Given the description of an element on the screen output the (x, y) to click on. 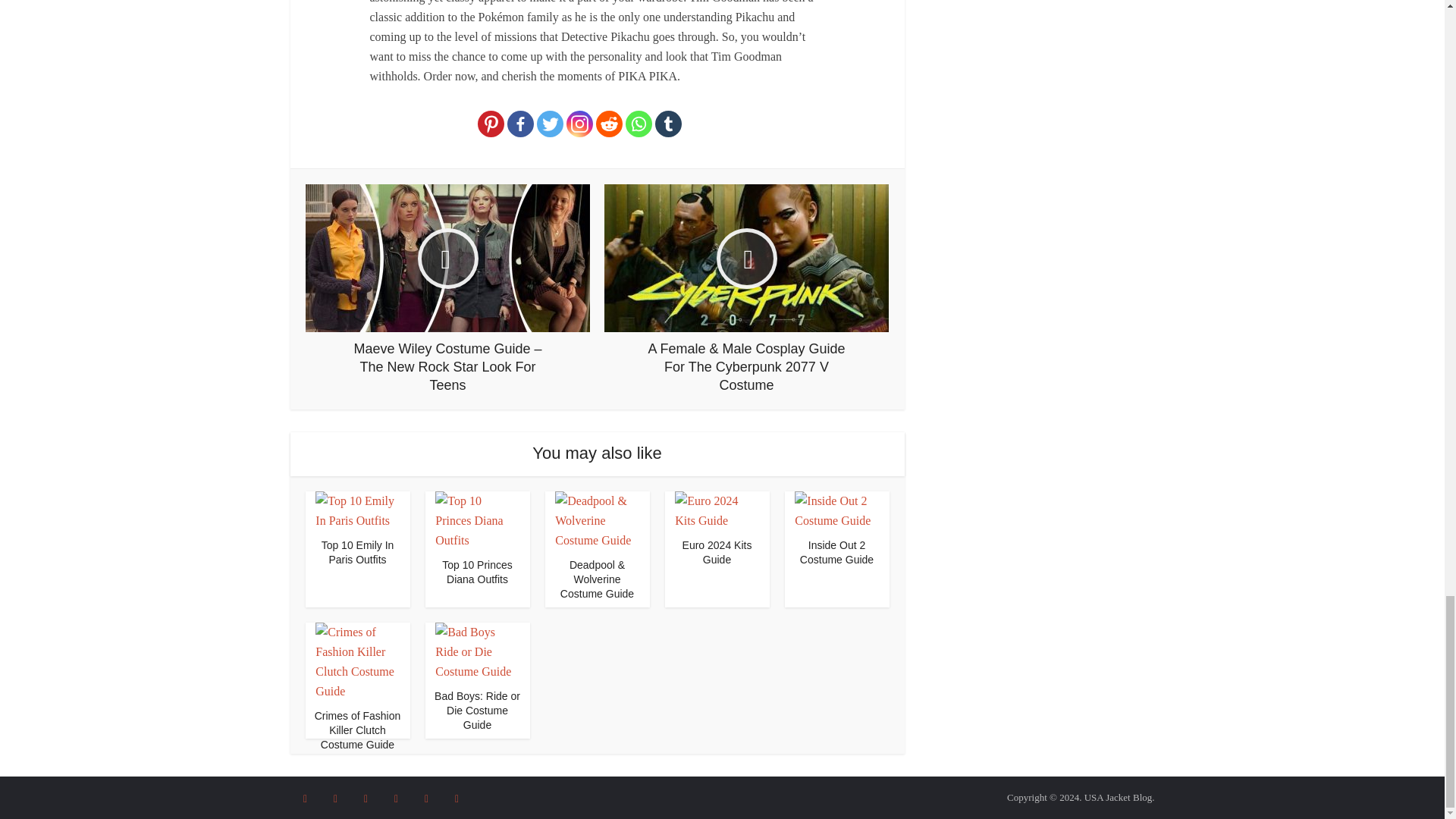
Top 10 Emily In Paris Outfits (357, 551)
Whatsapp (639, 123)
Tumblr (668, 123)
Inside Out 2 Costume Guide (836, 551)
Facebook (520, 123)
Crimes of Fashion Killer Clutch Costume Guide (357, 730)
Top 10 Emily In Paris Outfits (357, 551)
Top 10 Princes Diana Outfits (476, 519)
Bad Boys: Ride or Die Costume Guide (476, 710)
Euro 2024 Kits Guide (717, 551)
Euro 2024 Kits Guide (717, 551)
Euro 2024 Kits Guide (716, 509)
Instagram (579, 123)
Reddit (609, 123)
Top 10 Emily In Paris Outfits (356, 509)
